Given the description of an element on the screen output the (x, y) to click on. 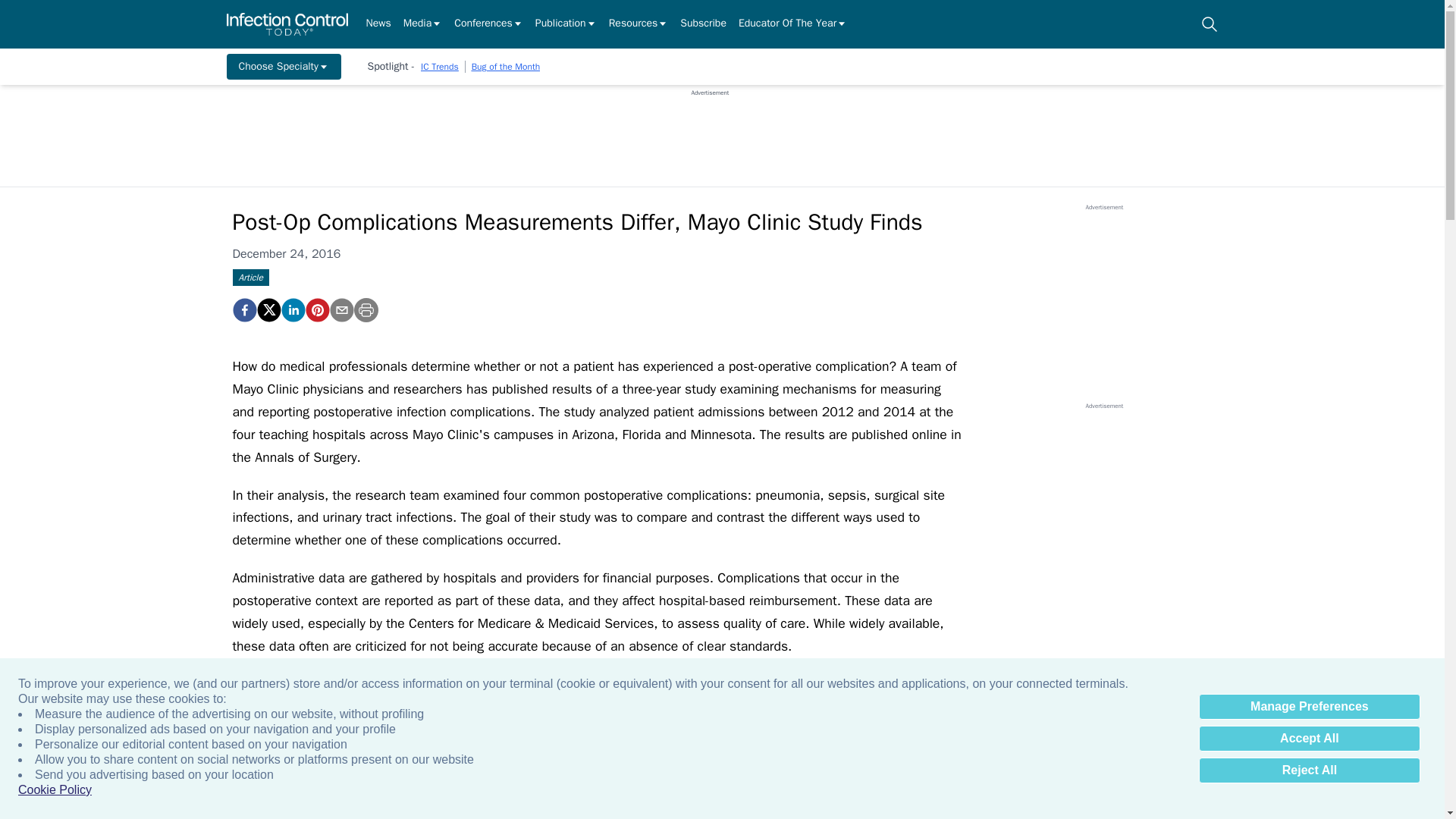
3rd party ad content (709, 131)
Publication (565, 23)
Subscribe (702, 23)
Reject All (1309, 769)
Cookie Policy (54, 789)
Conferences (488, 23)
Accept All (1309, 738)
News (377, 23)
Resources (638, 23)
Educator Of The Year (792, 23)
Media (422, 23)
Manage Preferences (1309, 706)
